Given the description of an element on the screen output the (x, y) to click on. 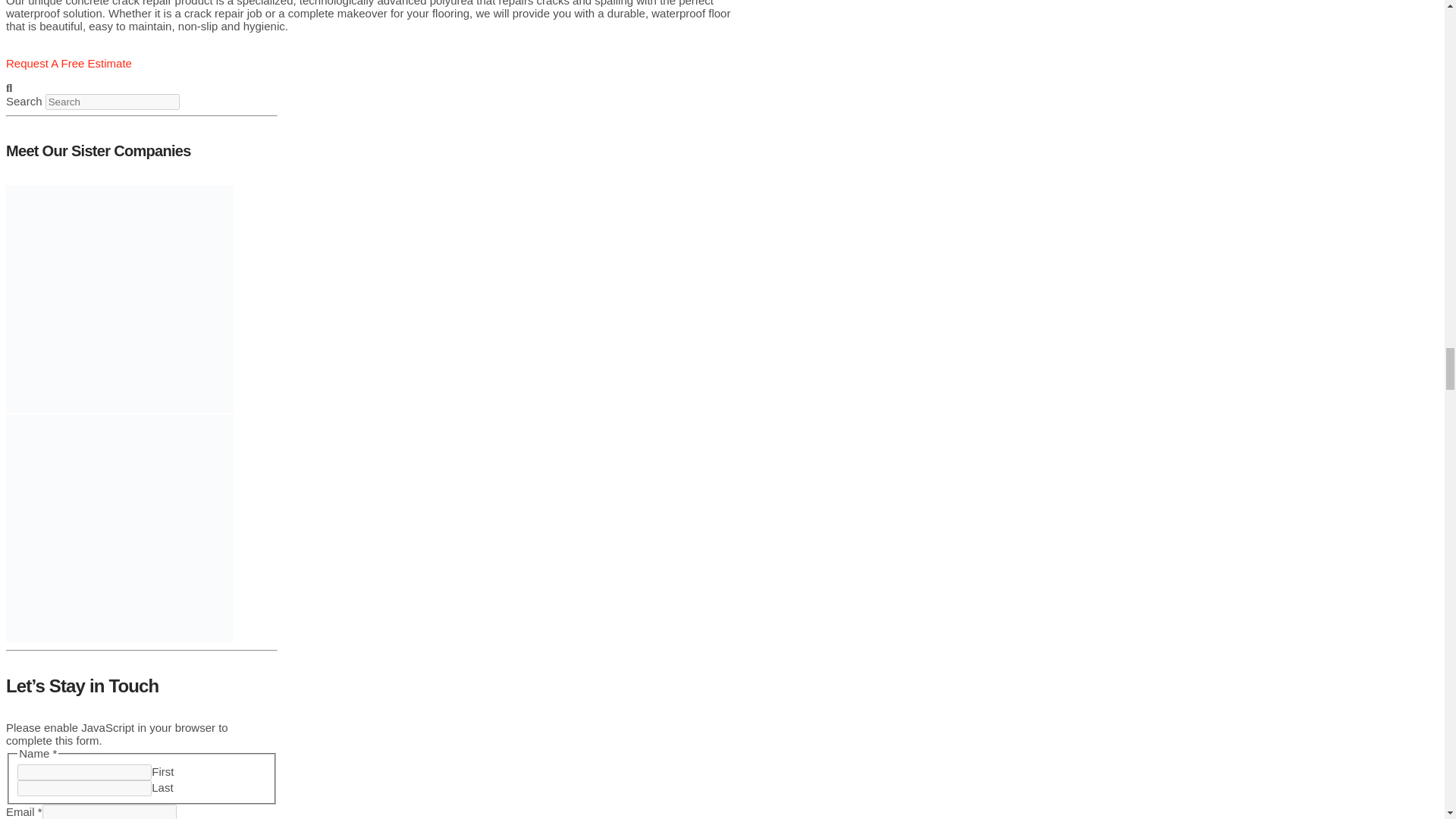
Request A Free Estimate (68, 69)
